Given the description of an element on the screen output the (x, y) to click on. 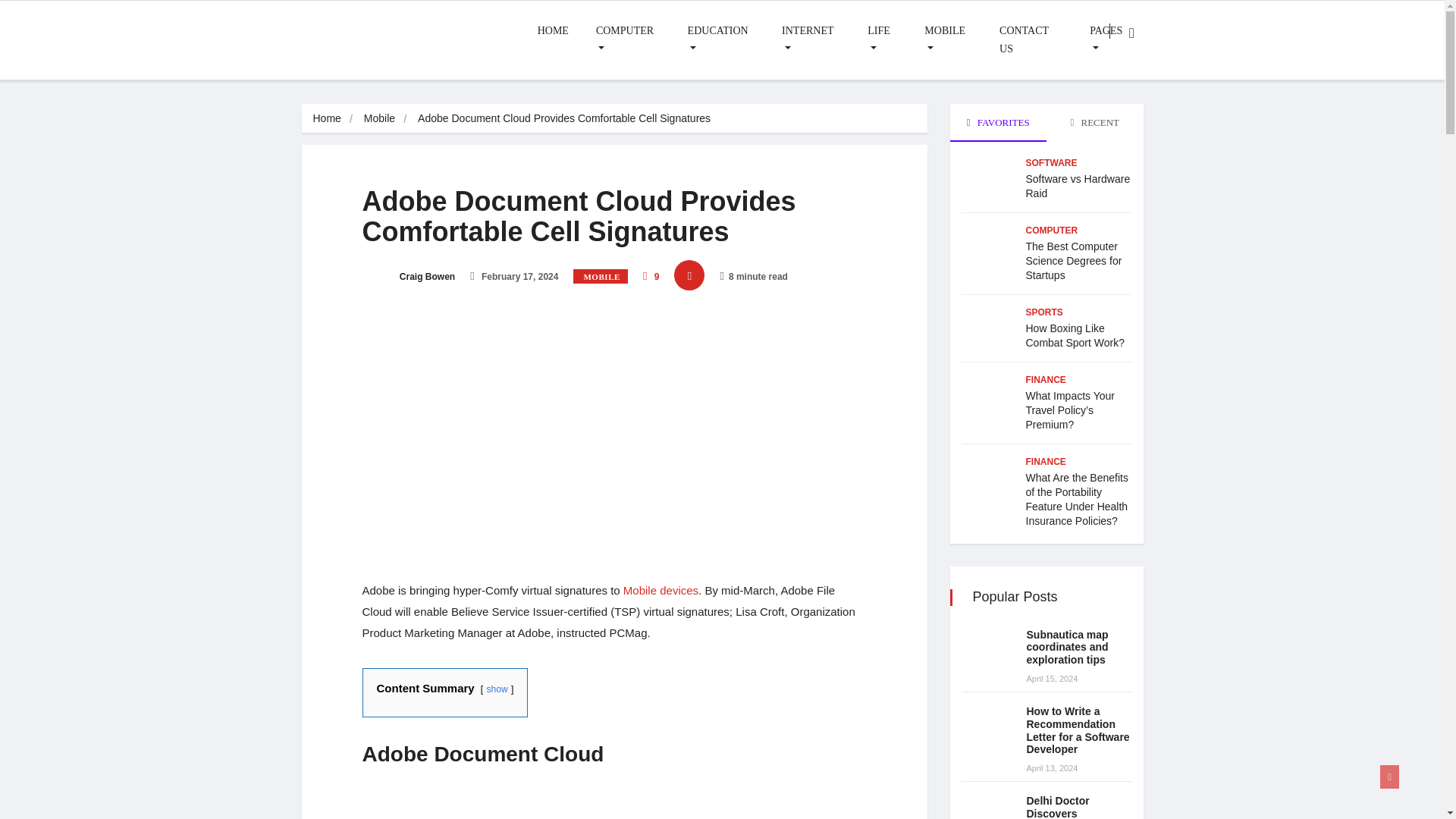
INTERNET (810, 39)
HOME (553, 30)
COMPUTER (628, 39)
Adobe Document Cloud Provides Comfortable Cell Signatures 2 (614, 805)
CONTACT US (1030, 39)
Adobe Document Cloud Provides Comfortable Cell Signatures 1 (446, 437)
MOBILE (948, 39)
Subnautica map coordinates and exploration tips (987, 649)
Home (326, 118)
EDUCATION (721, 39)
Subnautica map coordinates and exploration tips (1067, 647)
